Given the description of an element on the screen output the (x, y) to click on. 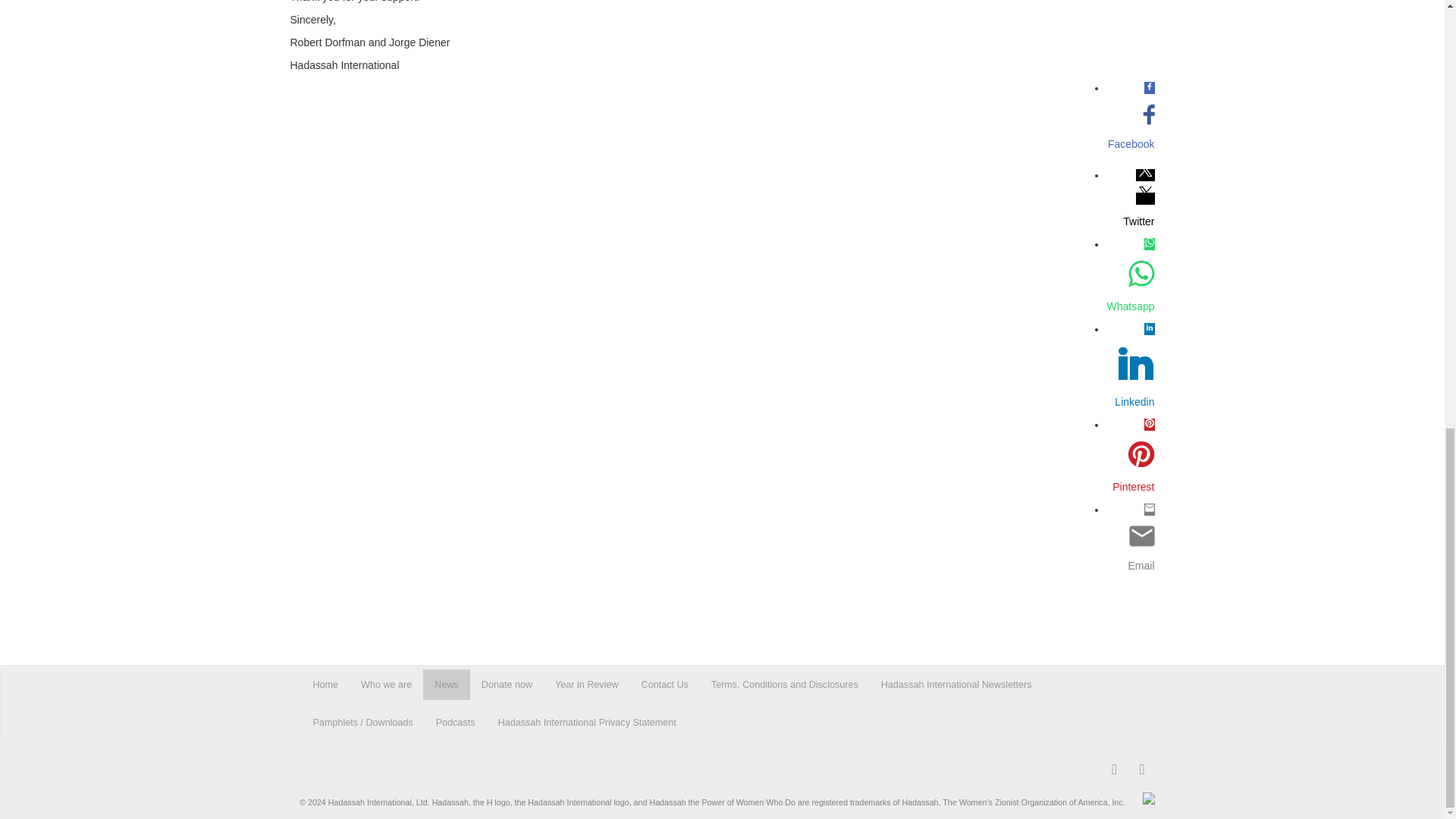
Linkedin (1130, 402)
Twitter (1130, 222)
Facebook (1130, 144)
Whatsapp (1130, 306)
Email (1130, 566)
Pinterest (1130, 487)
